Given the description of an element on the screen output the (x, y) to click on. 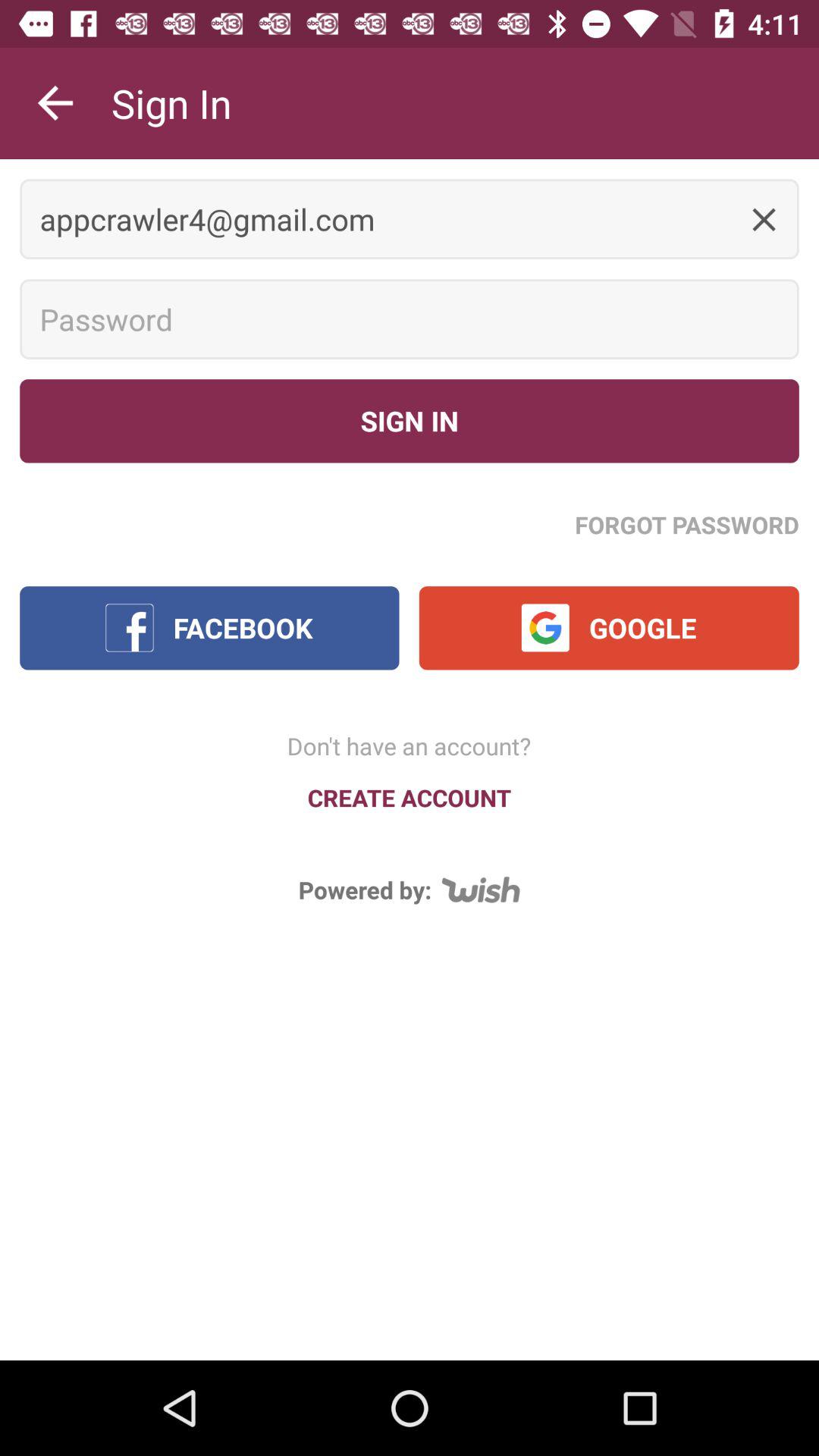
flip to the forgot password icon (687, 524)
